Given the description of an element on the screen output the (x, y) to click on. 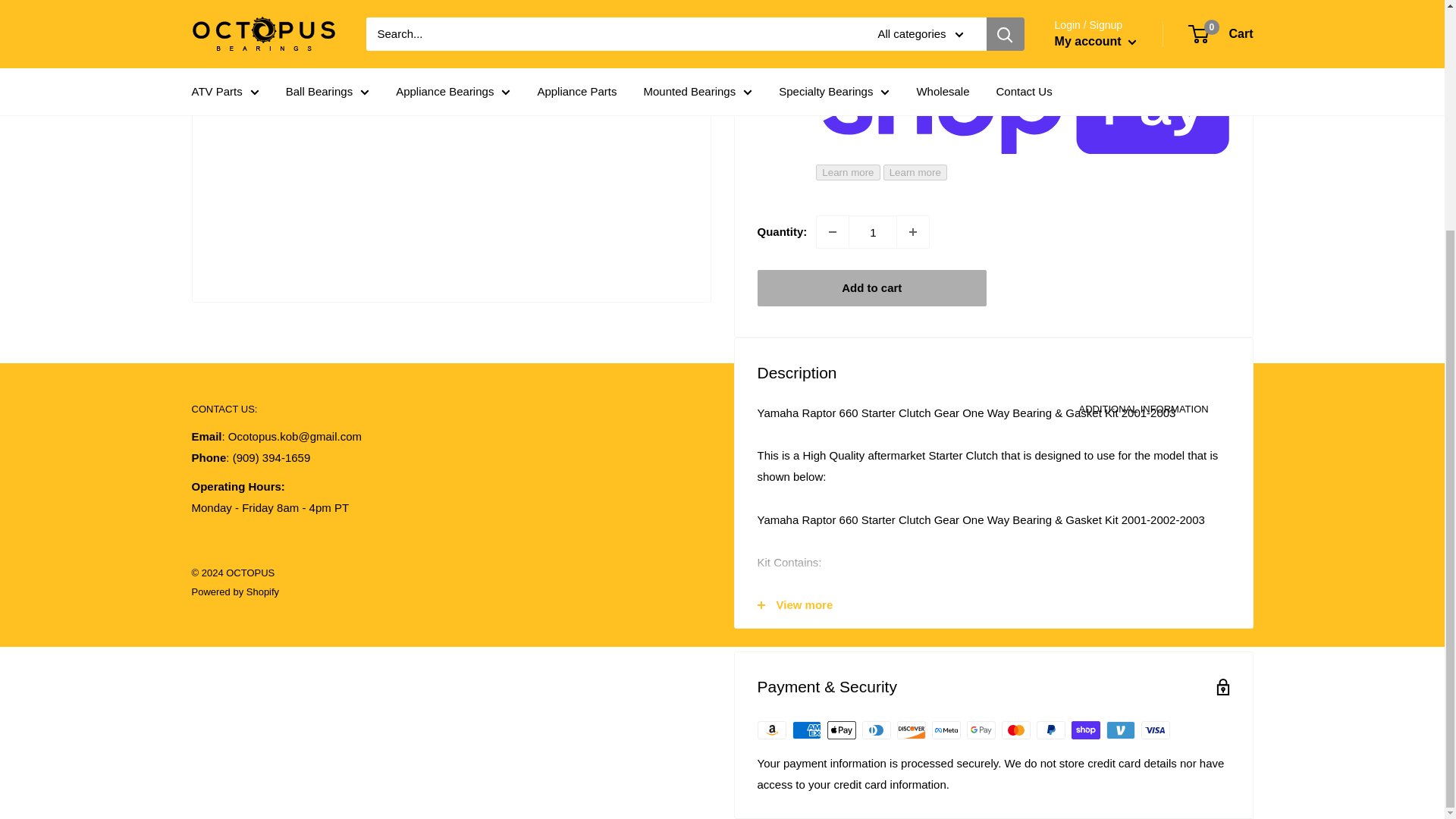
Increase quantity by 1 (912, 232)
Decrease quantity by 1 (832, 232)
1 (872, 232)
